Given the description of an element on the screen output the (x, y) to click on. 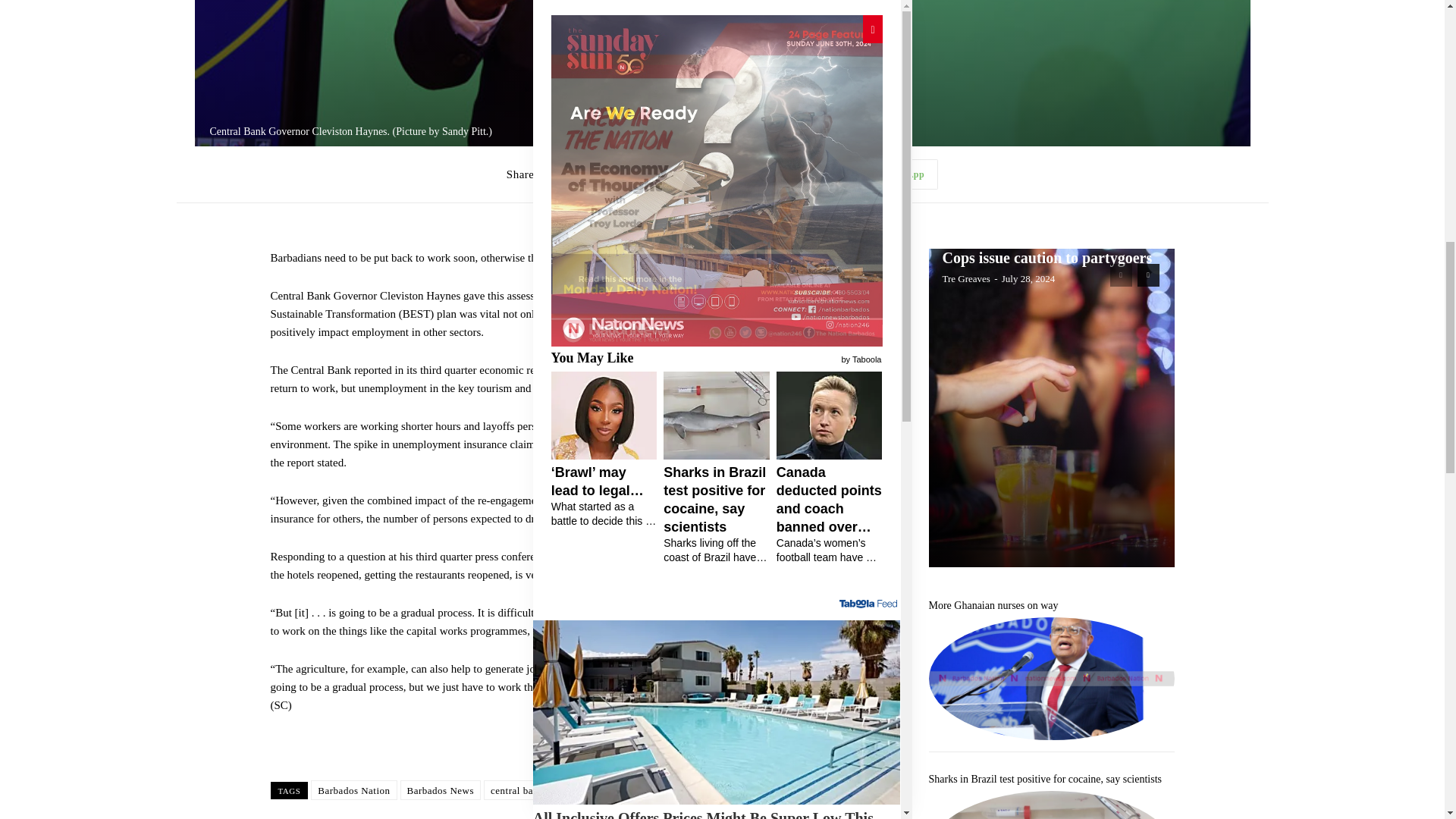
All Inclusive Offers Prices Might Be Super Low This Year (716, 32)
Sponsored (879, 547)
Get Offer (561, 63)
Sponsored (879, 61)
Sharks in Brazil test positive for cocaine, say scientists (622, 709)
Canada deducted points and coach banned over drone (809, 709)
